Given the description of an element on the screen output the (x, y) to click on. 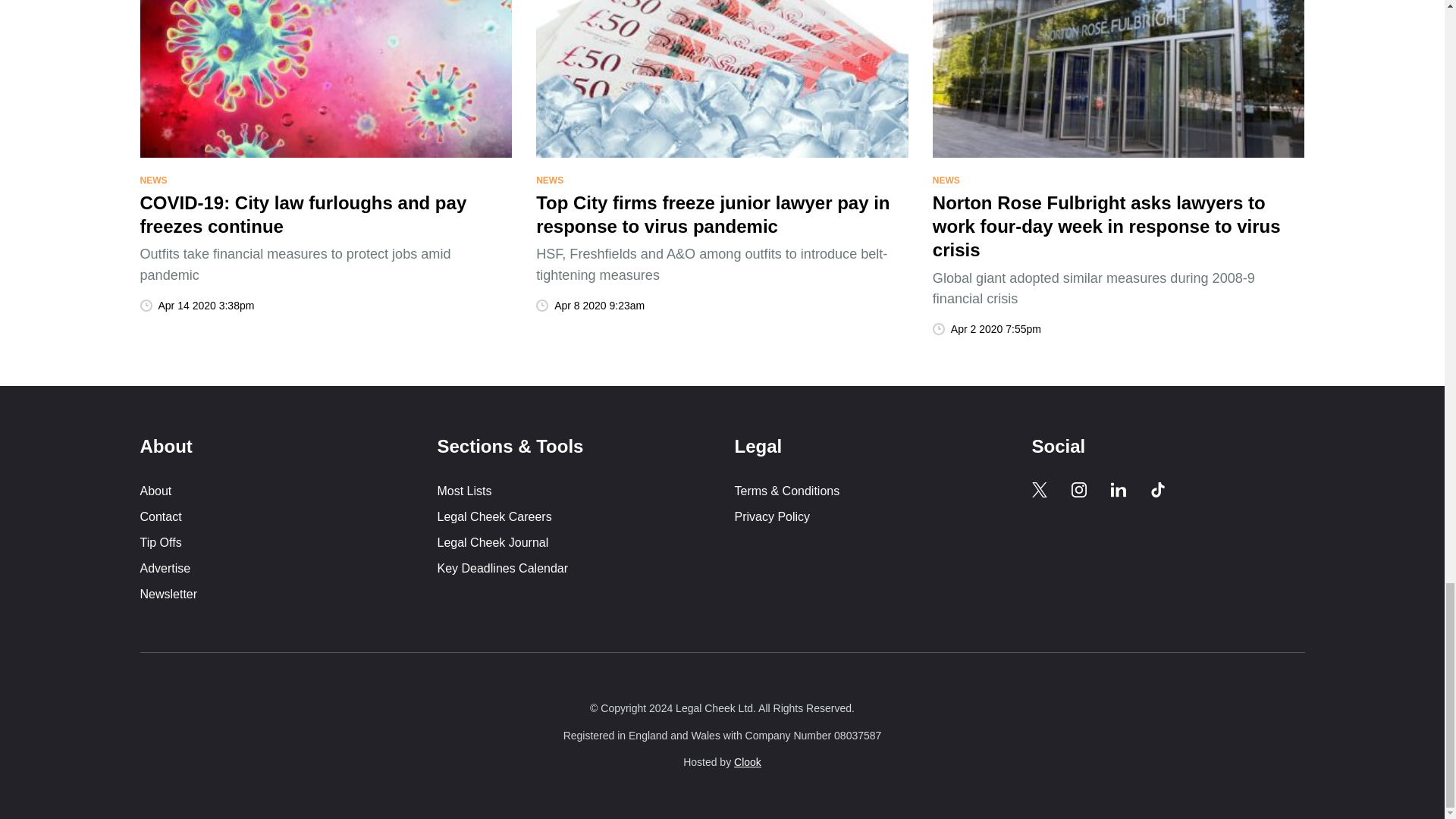
Legal Cheek Tik Tok (1157, 489)
Legal Cheek Twitter (1038, 489)
Legal Cheek Instagram (1078, 489)
Legal Cheek LinkedIn (1117, 489)
